Given the description of an element on the screen output the (x, y) to click on. 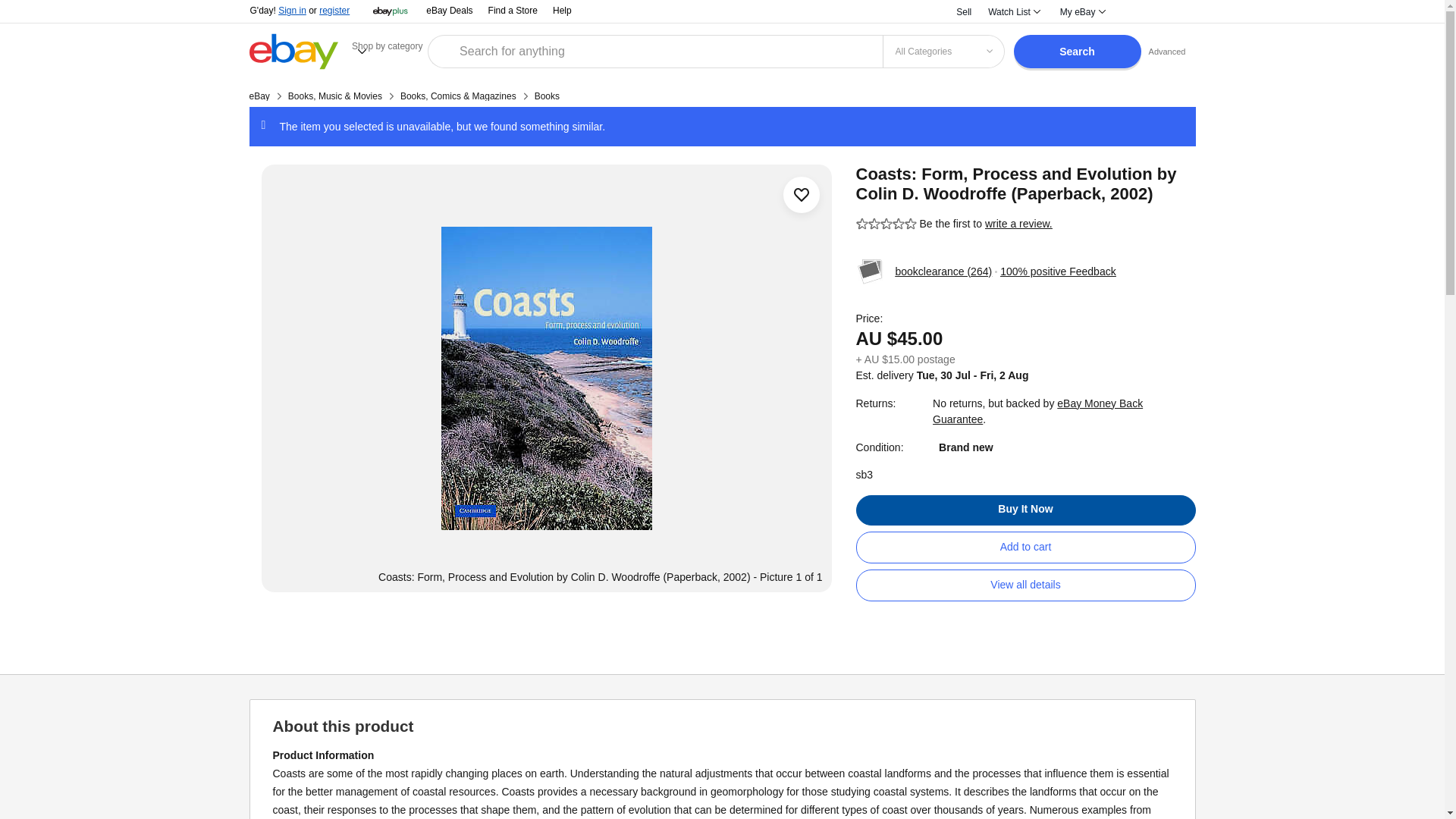
Shop by category (390, 51)
Search (1077, 51)
write a review. (1018, 223)
My eBay (1081, 12)
Watch List (1012, 12)
Notifications (1136, 11)
Advanced search (1167, 51)
